Given the description of an element on the screen output the (x, y) to click on. 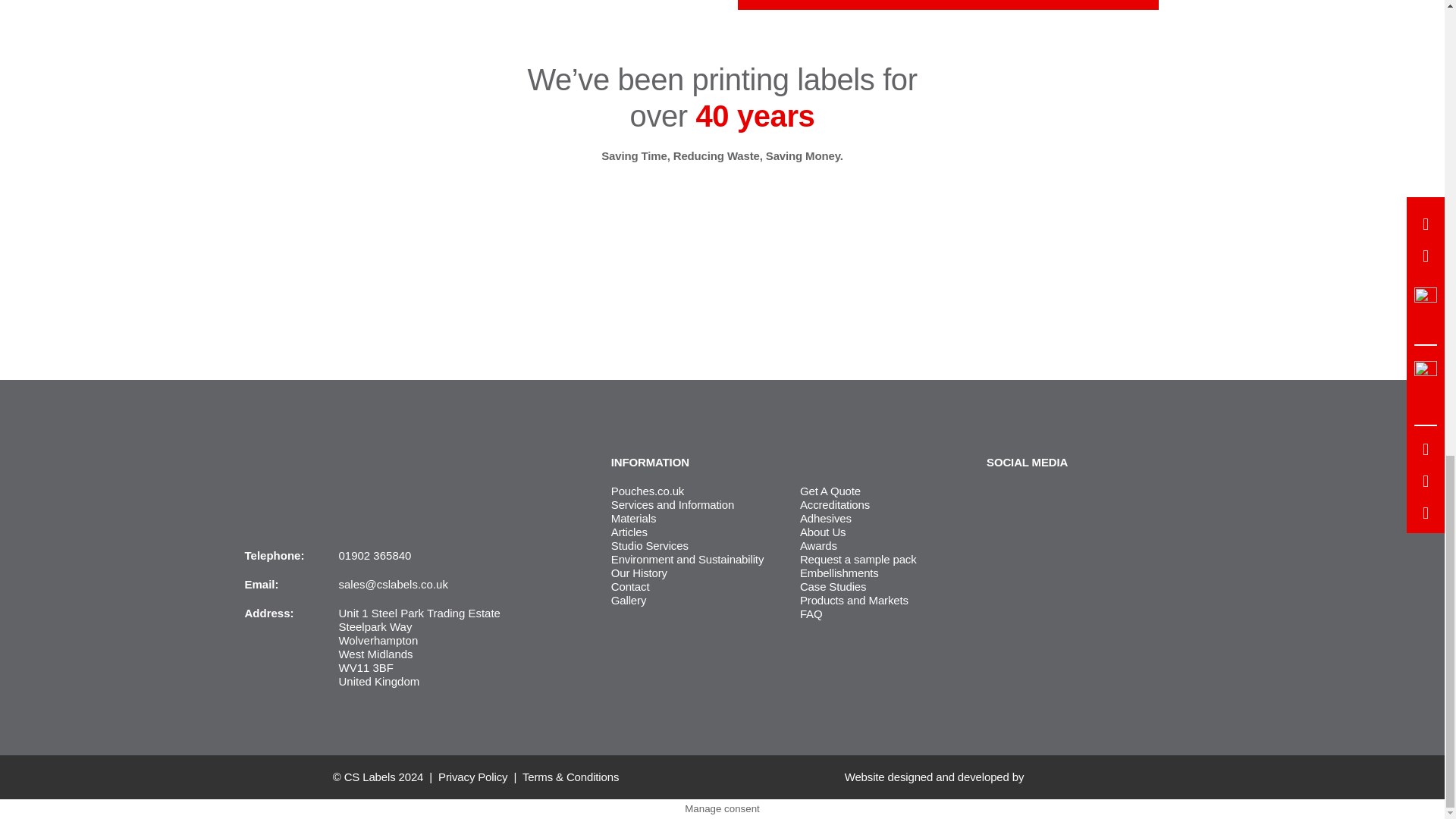
Articles (629, 531)
Our History (638, 572)
Gallery (628, 599)
Environment and Sustainability (686, 558)
Services and Information (672, 504)
Materials (633, 517)
Studio Services (649, 545)
Contact (630, 585)
Pouches.co.uk (647, 490)
Get A Quote (829, 490)
